Given the description of an element on the screen output the (x, y) to click on. 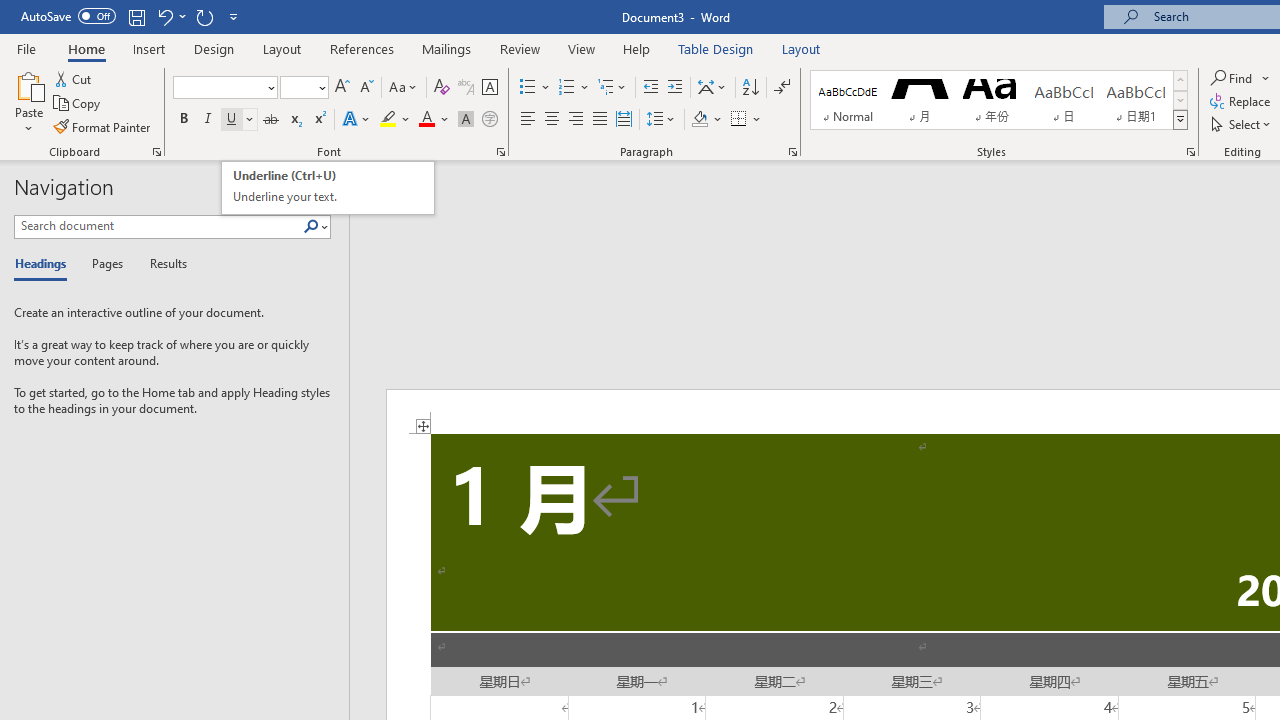
Asian Layout (712, 87)
Undo Apply Quick Style (164, 15)
Sort... (750, 87)
Format Painter (103, 126)
Undo Apply Quick Style (170, 15)
Bold (183, 119)
Font Color RGB(255, 0, 0) (426, 119)
Shrink Font (365, 87)
